Given the description of an element on the screen output the (x, y) to click on. 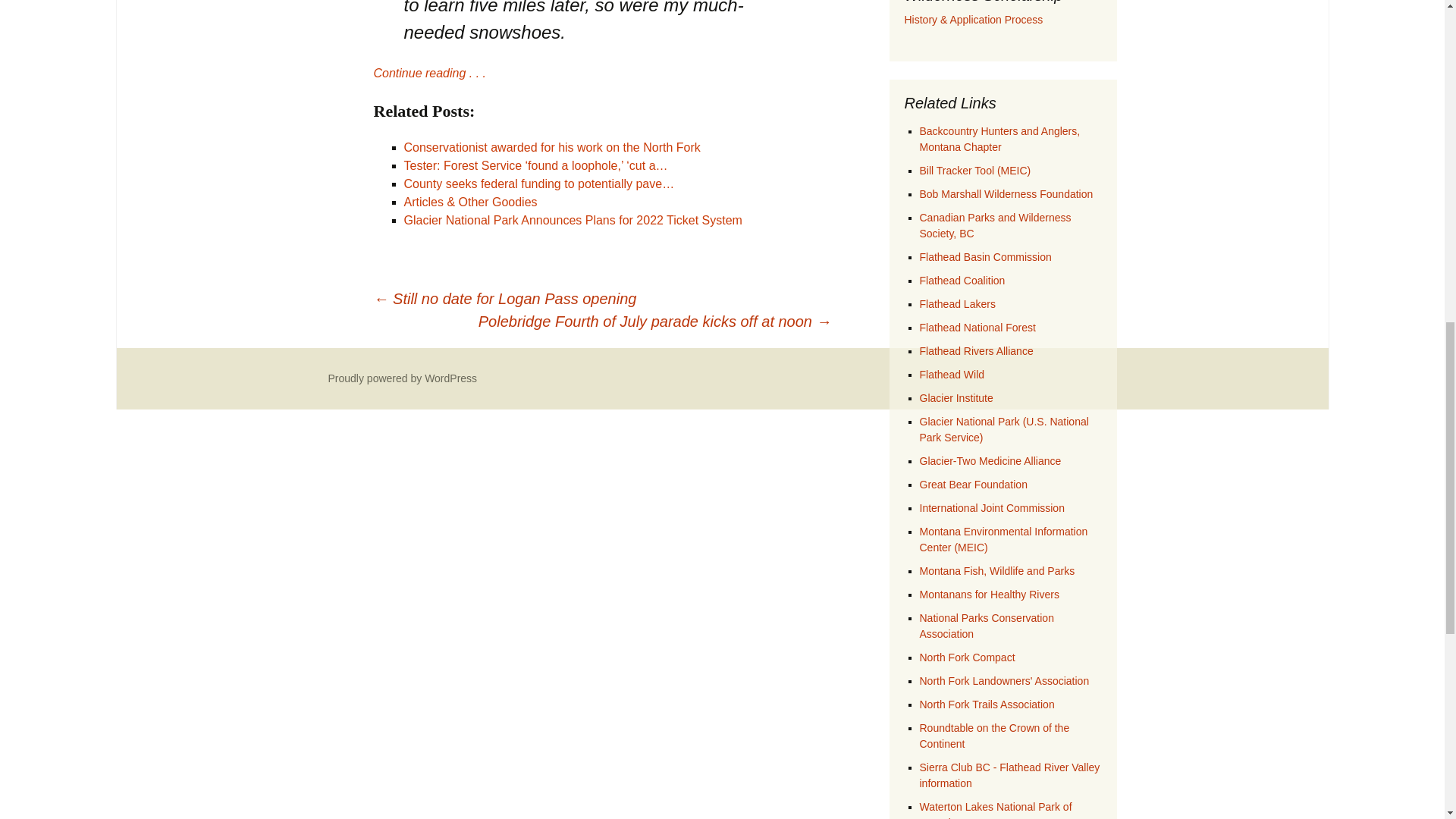
Canadian Parks and Wilderness Society, BC (994, 225)
Conservationist awarded for his work on the North Fork (551, 146)
Flathead Coalition (961, 280)
Flathead Basin Commission (984, 256)
Backcountry Hunters and Anglers, Montana Chapter (999, 139)
Bob Marshall Wilderness Foundation (1005, 193)
Continue reading . . . (429, 72)
Montana Legislative Bill Tracker (974, 170)
Glacier National Park Announces Plans for 2022 Ticket System (572, 219)
